Given the description of an element on the screen output the (x, y) to click on. 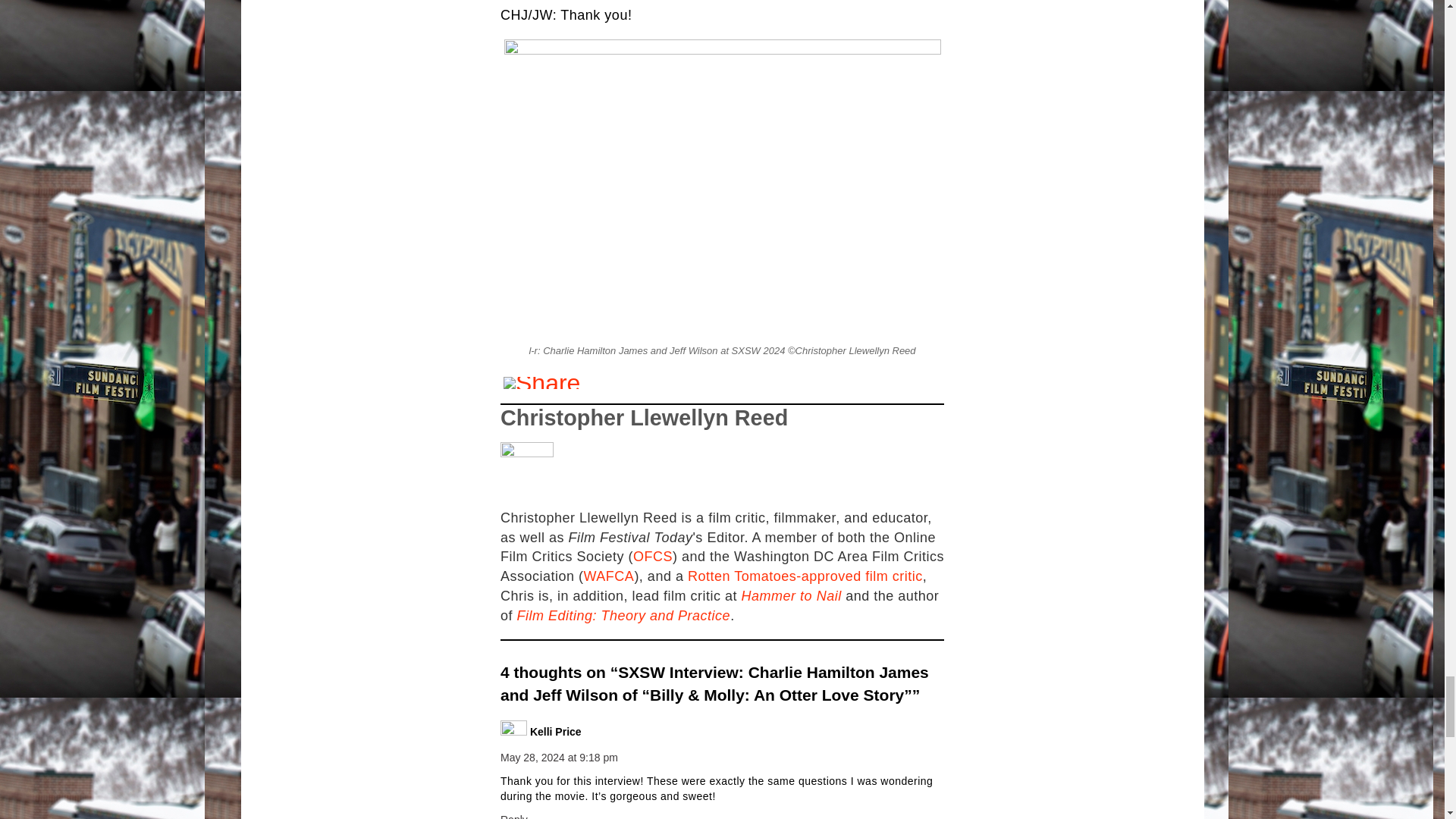
WAFCA (608, 575)
Reply (513, 816)
Film Editing: Theory and Practice (623, 615)
OFCS (652, 556)
Hammer to Nail (791, 595)
Rotten Tomatoes-approved film critic (805, 575)
May 28, 2024 at 9:18 pm (558, 757)
All posts by Christopher Llewellyn Reed (643, 417)
Christopher Llewellyn Reed (643, 417)
